Given the description of an element on the screen output the (x, y) to click on. 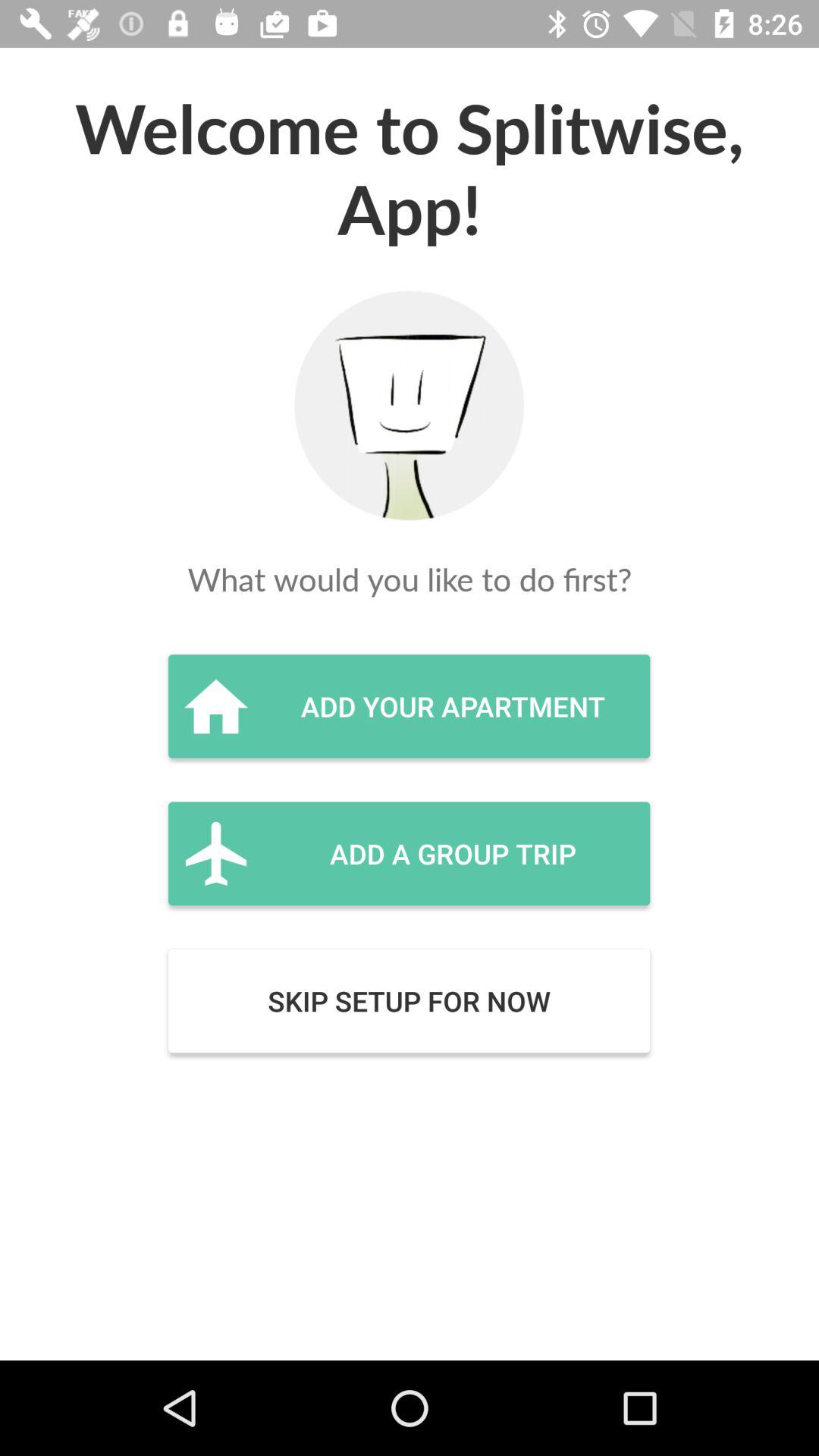
choose skip setup for item (409, 1000)
